Given the description of an element on the screen output the (x, y) to click on. 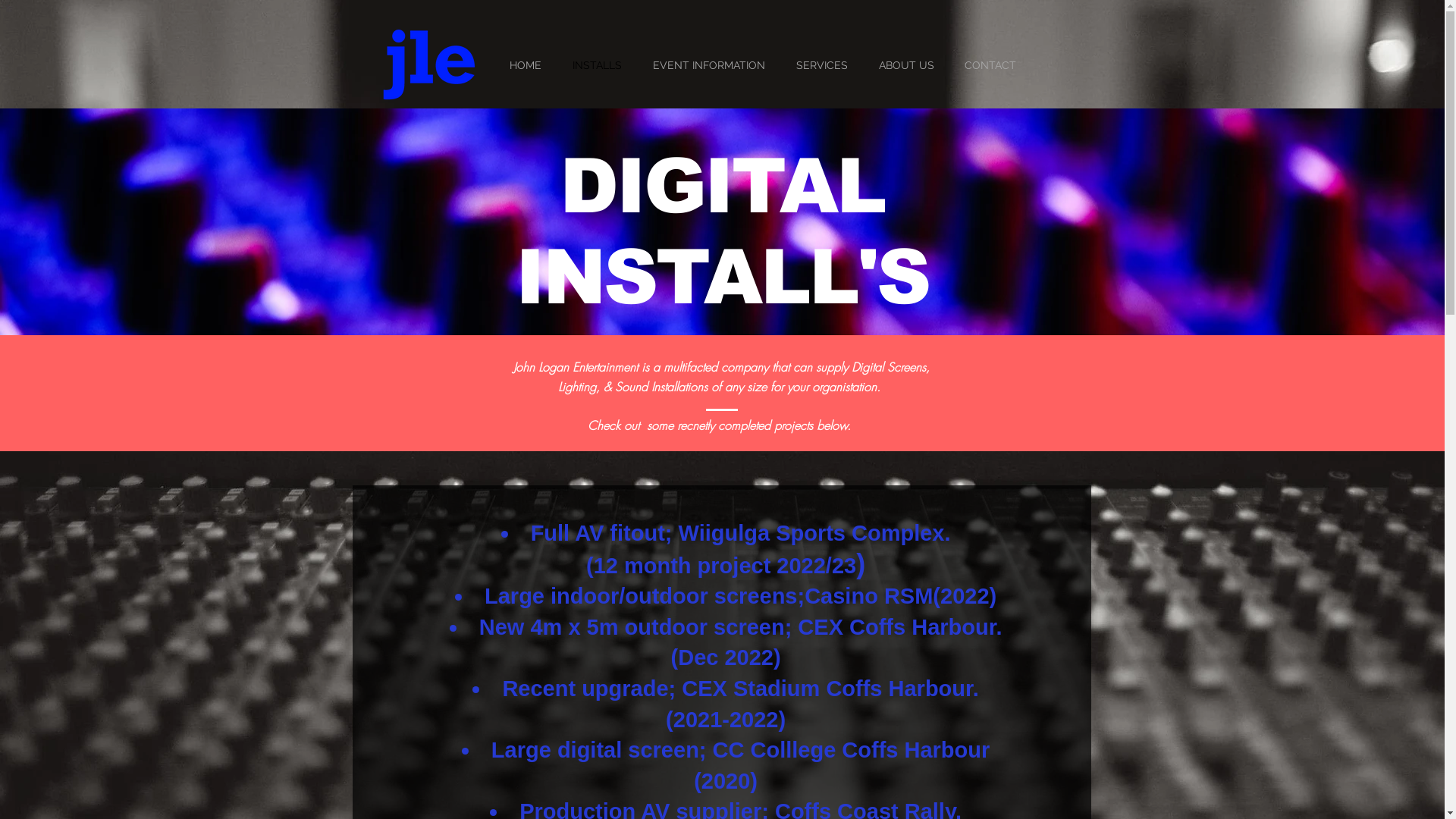
CONTACT Element type: text (990, 65)
EVENT INFORMATION Element type: text (708, 65)
SERVICES Element type: text (822, 65)
HOME Element type: text (525, 65)
INSTALLS Element type: text (596, 65)
ABOUT US Element type: text (905, 65)
